Given the description of an element on the screen output the (x, y) to click on. 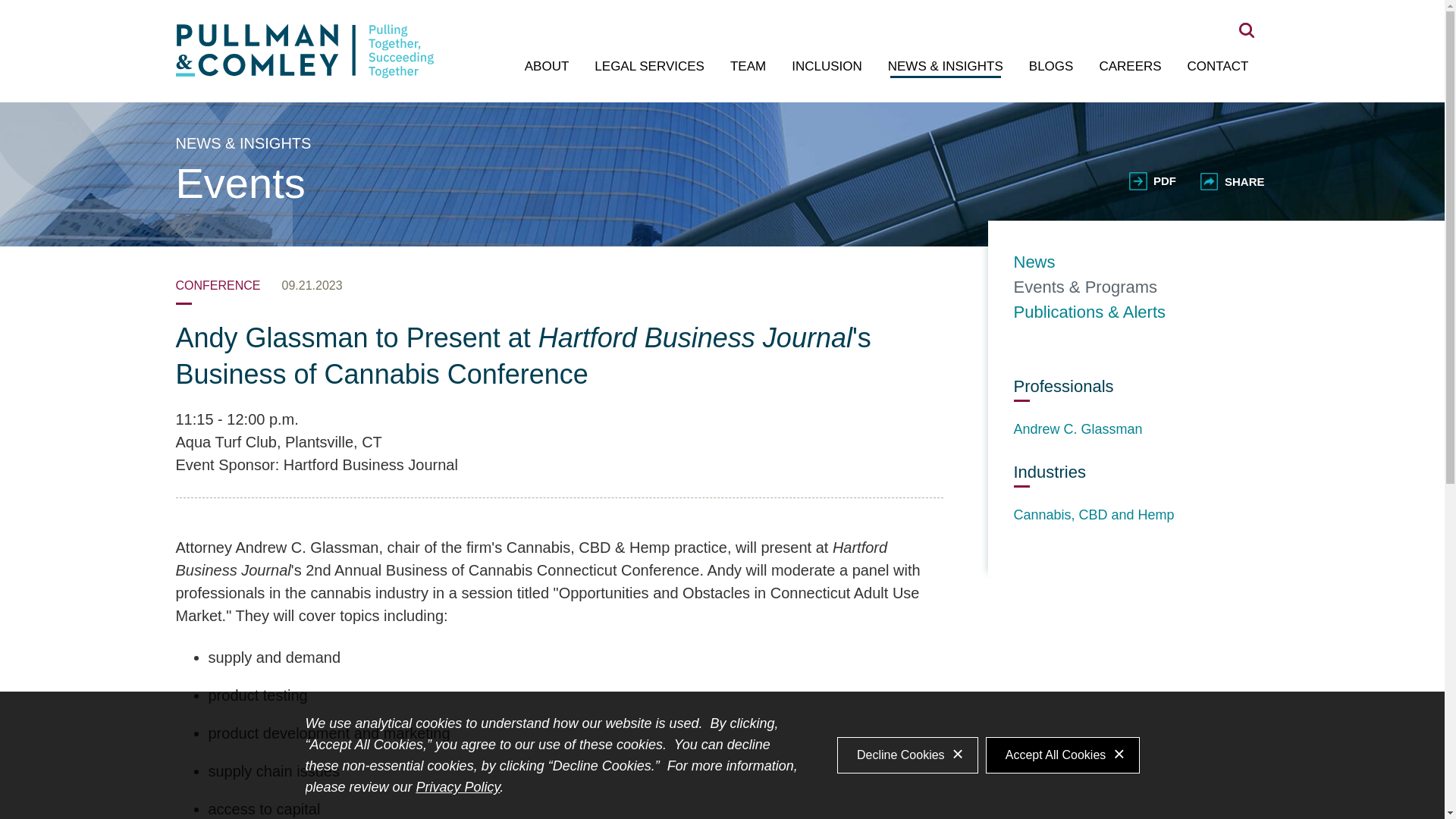
INCLUSION (826, 66)
Share (1232, 181)
ABOUT (546, 66)
Menu (673, 19)
CAREERS (1129, 66)
BLOGS (1051, 66)
TEAM (747, 66)
Main Content (666, 19)
LEGAL SERVICES (649, 66)
Main Menu (673, 19)
